Given the description of an element on the screen output the (x, y) to click on. 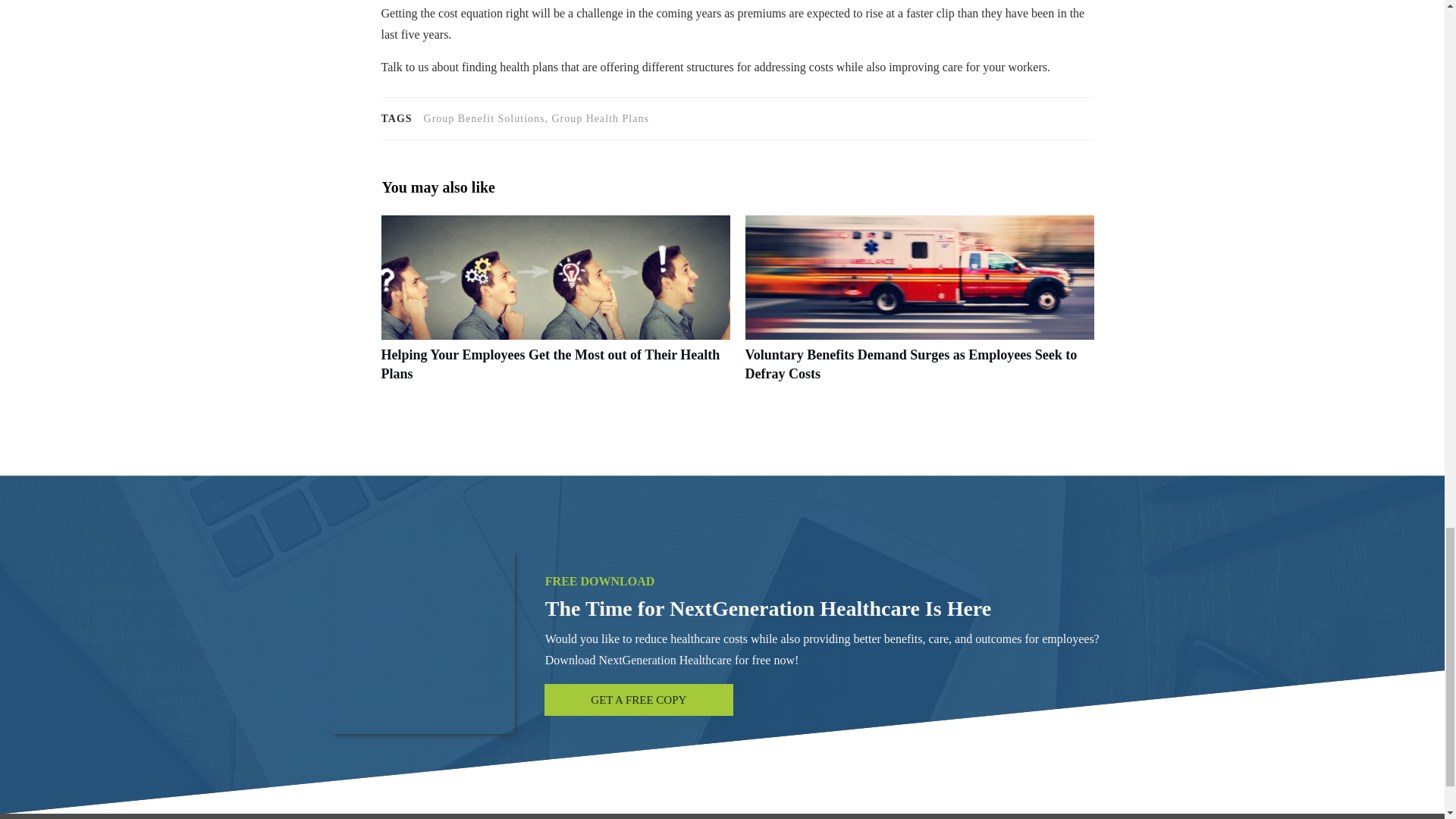
GET A FREE COPY (638, 699)
